Given the description of an element on the screen output the (x, y) to click on. 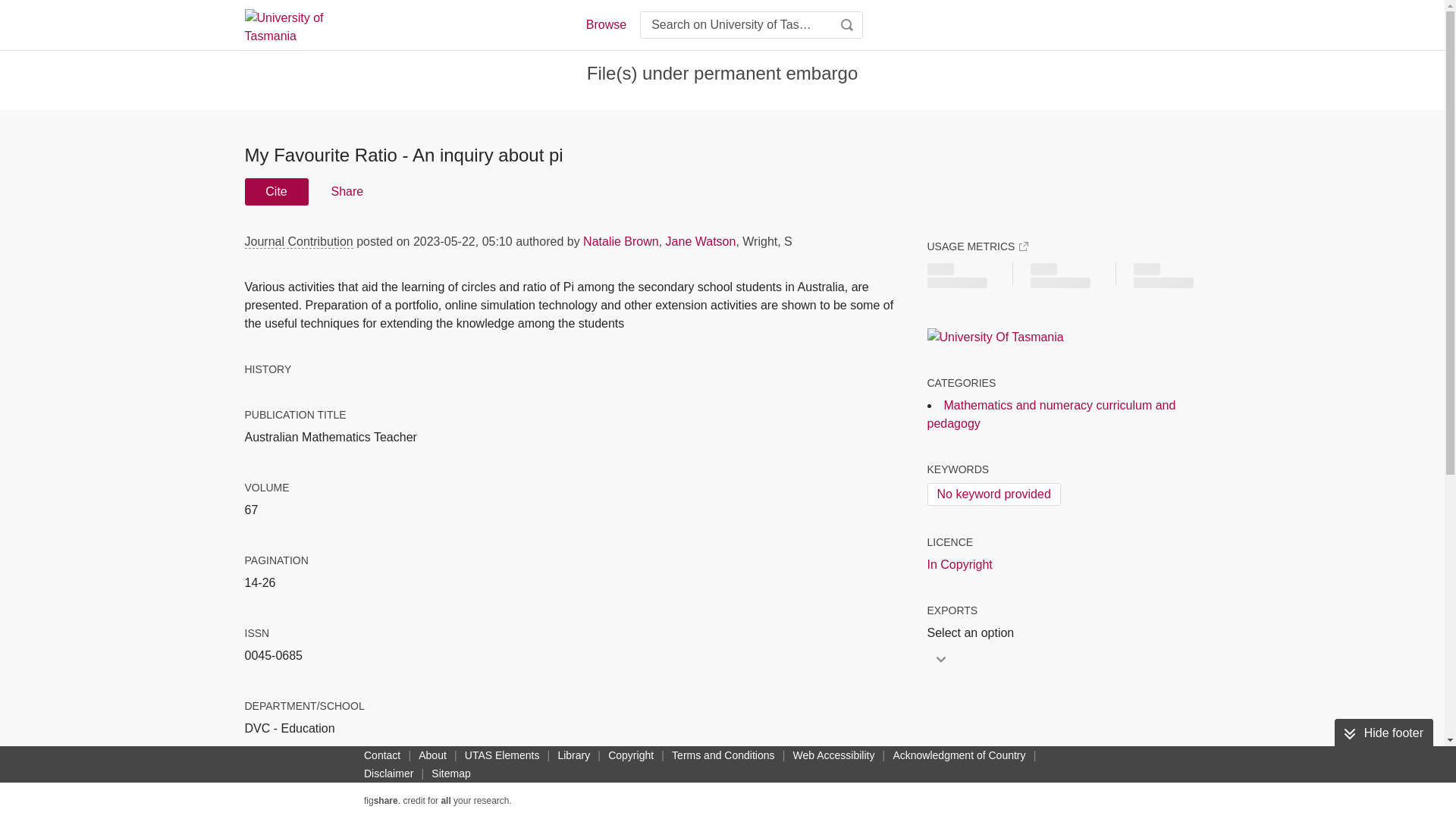
About (432, 755)
Mathematics and numeracy curriculum and pedagogy (1050, 413)
Library (573, 755)
Sitemap (450, 773)
USAGE METRICS (976, 246)
Web Accessibility (834, 755)
Natalie Brown (621, 241)
Terms and Conditions (722, 755)
In Copyright (958, 565)
Share (346, 191)
Copyright (631, 755)
UTAS Elements (502, 755)
Jane Watson (700, 241)
No keyword provided (992, 494)
Acknowledgment of Country (958, 755)
